Given the description of an element on the screen output the (x, y) to click on. 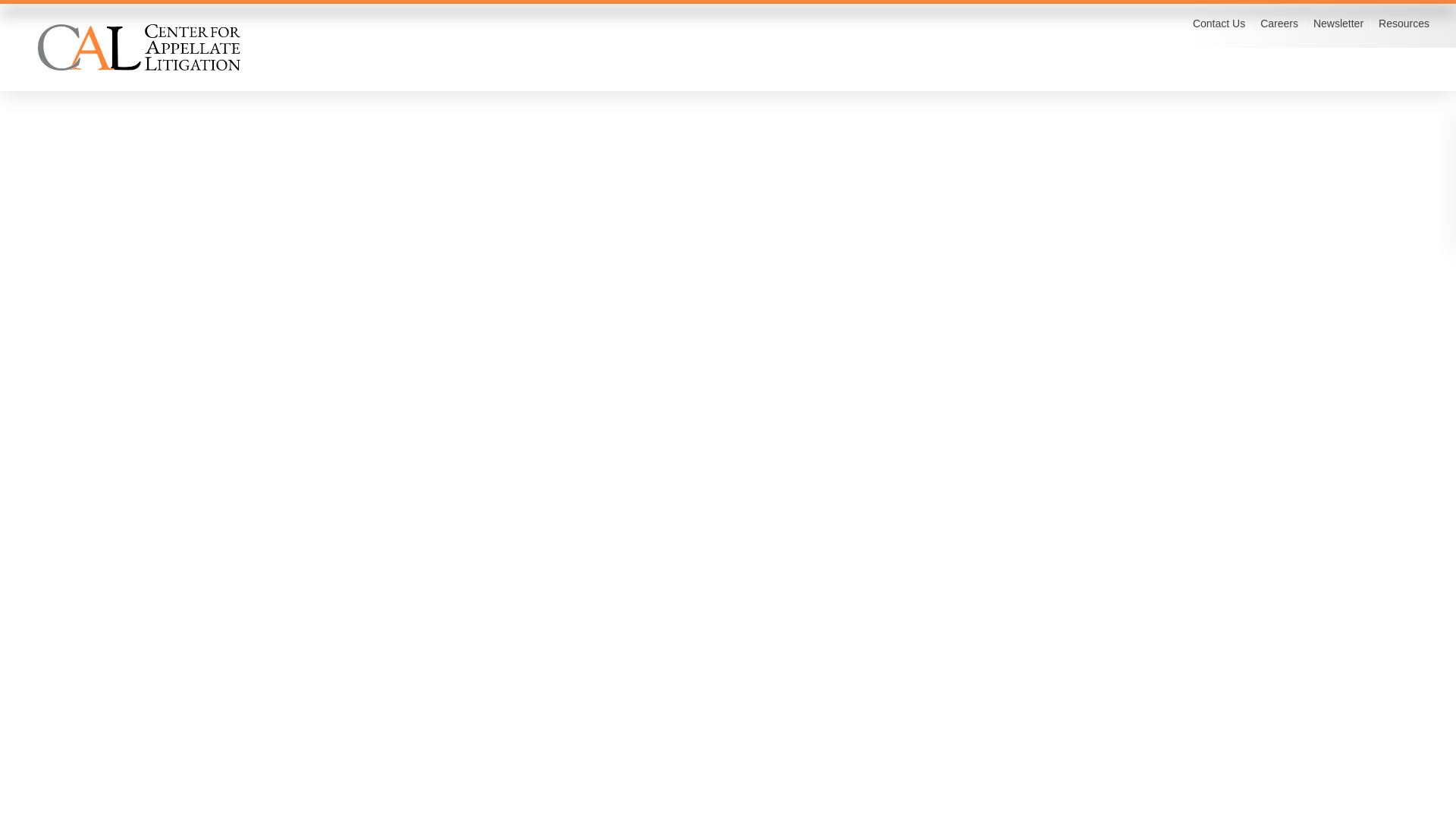
Newsletter (1337, 23)
Contact Us (1218, 23)
Careers (1279, 23)
Resources (1403, 23)
